Given the description of an element on the screen output the (x, y) to click on. 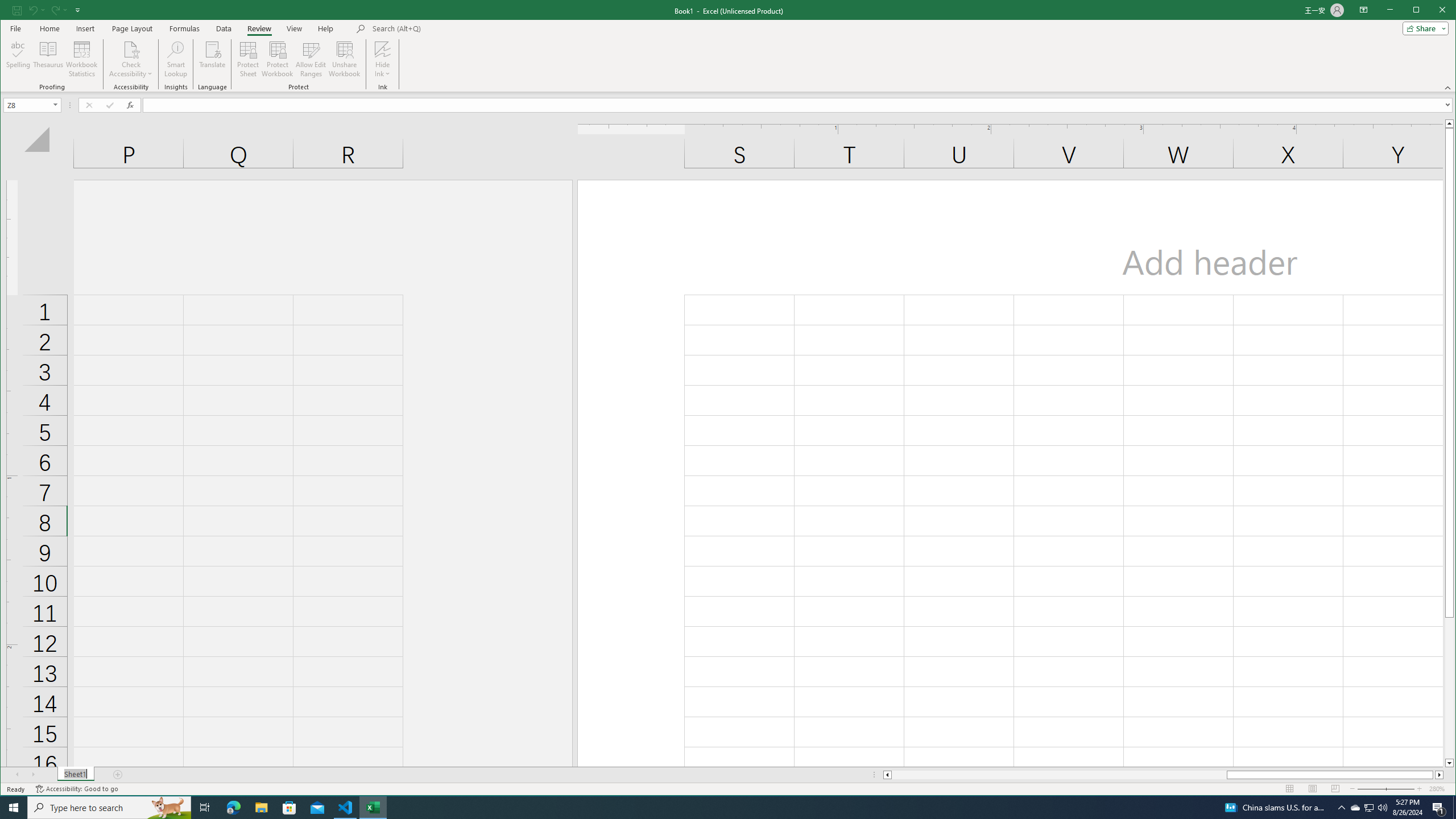
More Options (382, 69)
Page Break Preview (1334, 788)
Collapse the Ribbon (1448, 87)
Name Box (27, 104)
Zoom Out (1378, 788)
Save (16, 9)
System (10, 10)
Name Box (32, 105)
File Explorer (261, 807)
Page down (1449, 687)
Formulas (184, 28)
Thesaurus... (48, 59)
Page left (1059, 774)
Excel - 1 running window (373, 807)
